Given the description of an element on the screen output the (x, y) to click on. 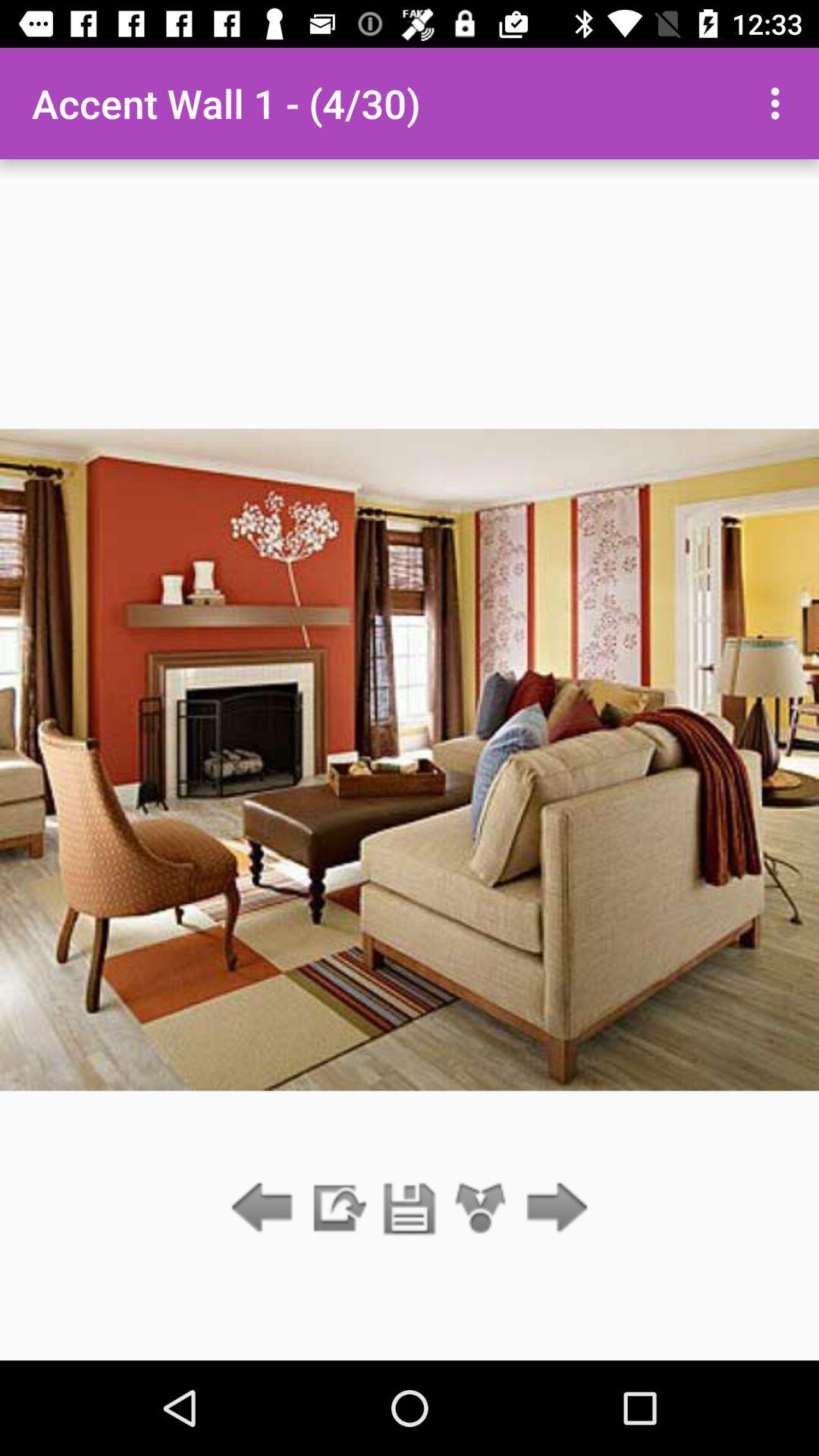
tap app next to the accent wall 1 item (779, 103)
